Given the description of an element on the screen output the (x, y) to click on. 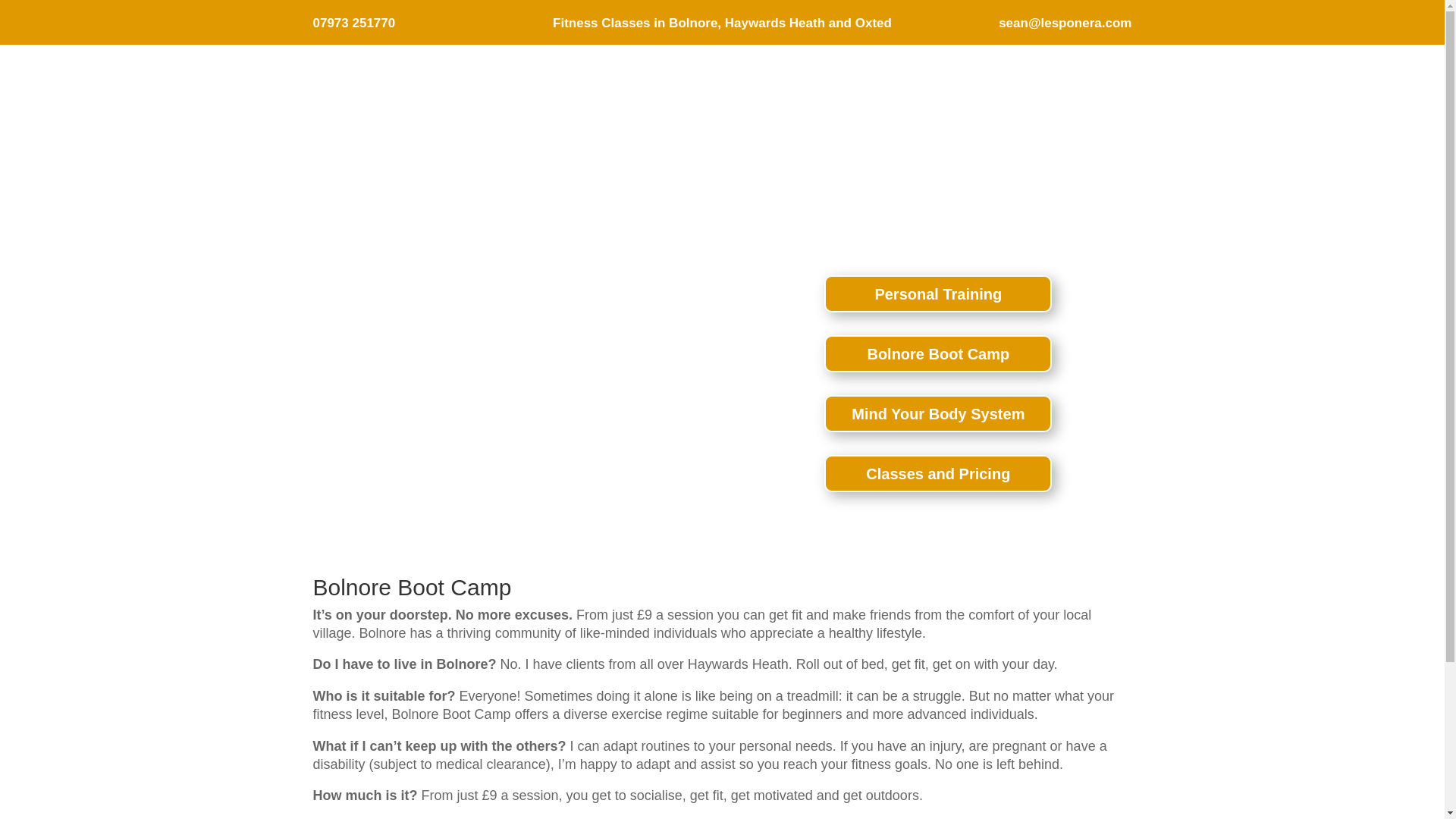
Mind Your Body System (937, 413)
Personal Training (937, 293)
Classes and Pricing (937, 473)
Bolnore Boot Camp (937, 353)
